Given the description of an element on the screen output the (x, y) to click on. 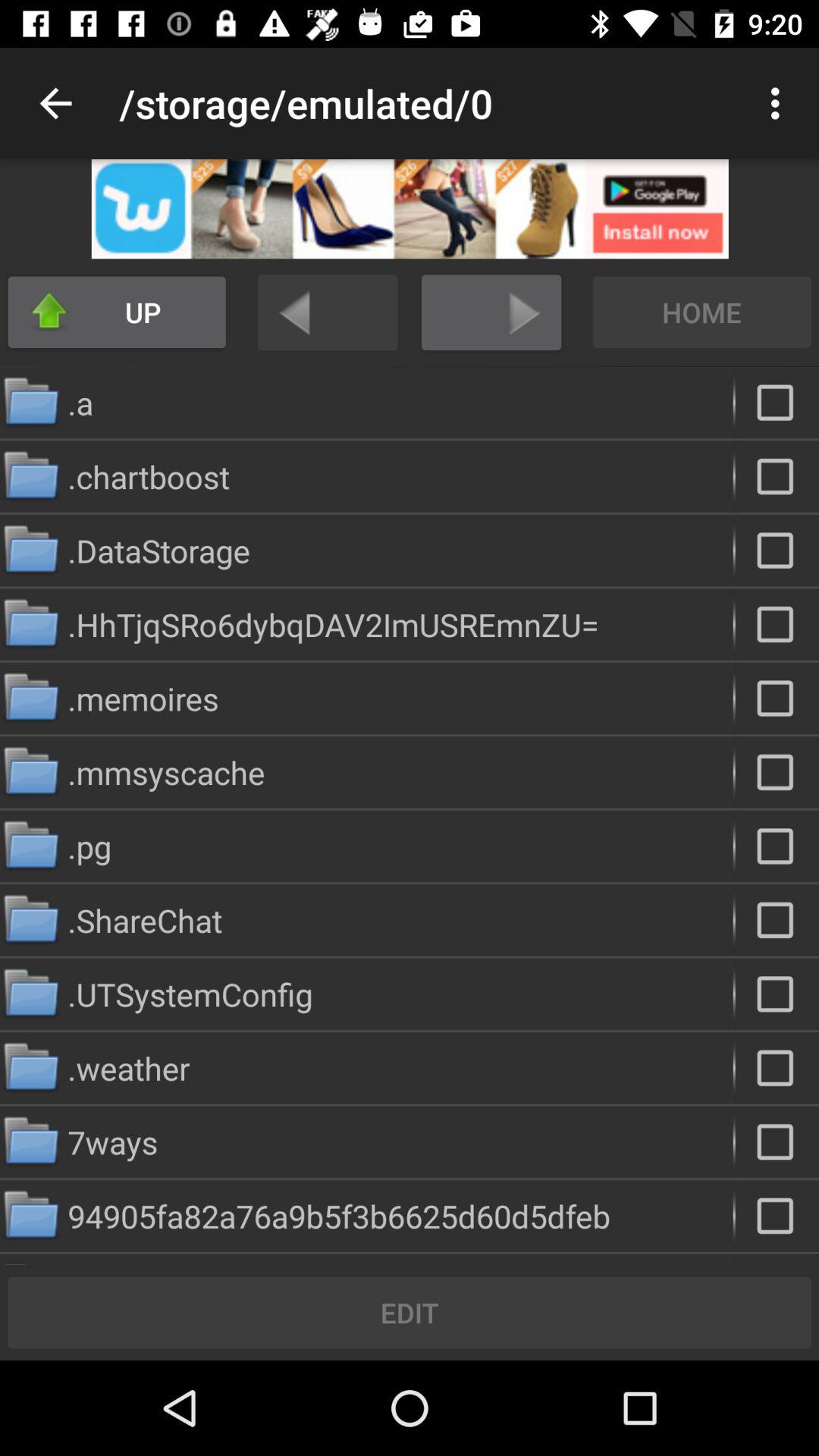
folder select checkbox (777, 550)
